Given the description of an element on the screen output the (x, y) to click on. 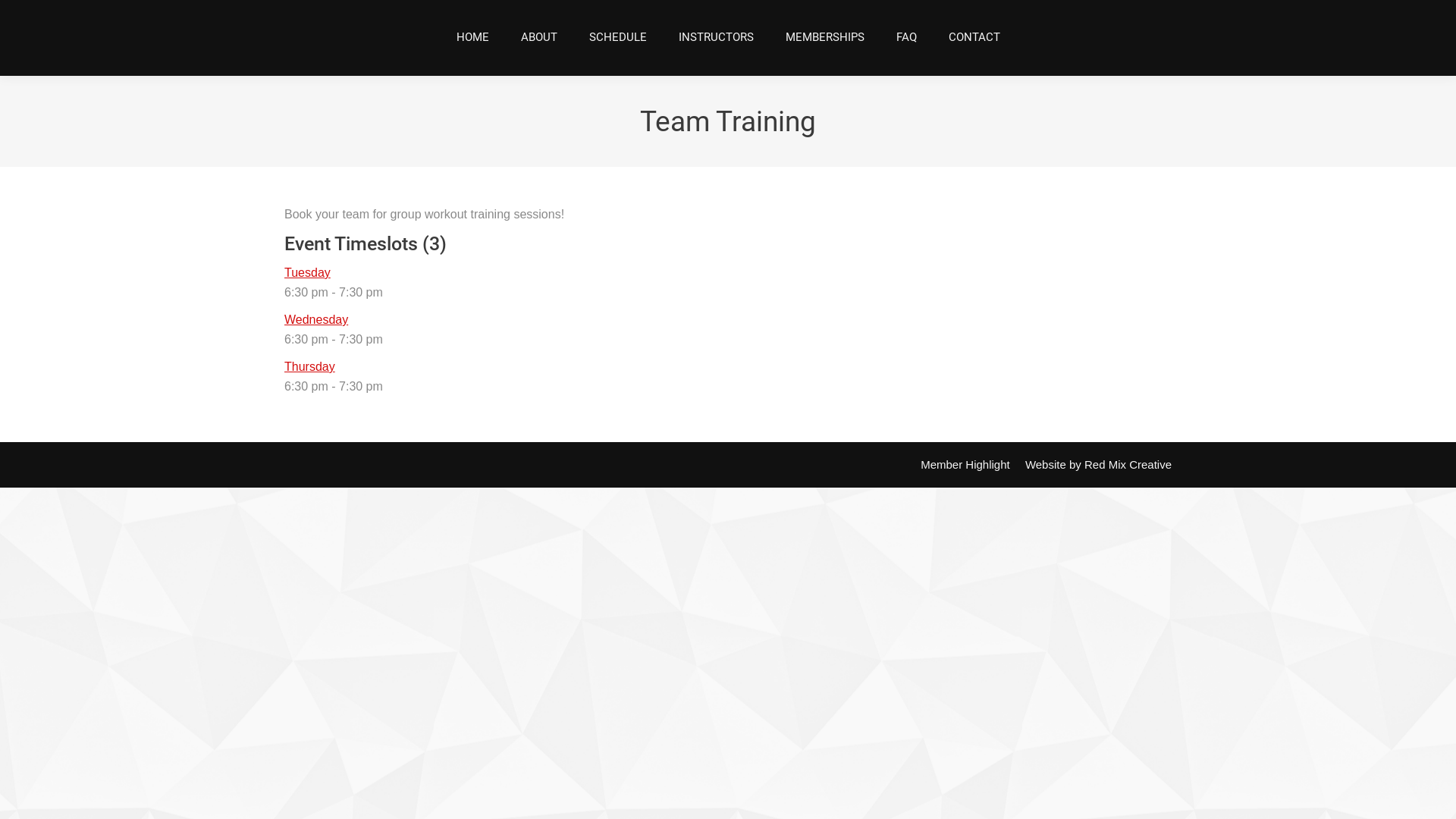
SCHEDULE Element type: text (617, 37)
ABOUT Element type: text (539, 37)
FAQ Element type: text (905, 37)
HOME Element type: text (471, 37)
INSTRUCTORS Element type: text (715, 37)
Member Highlight Element type: text (965, 464)
Wednesday Element type: text (316, 319)
MEMBERSHIPS Element type: text (824, 37)
CONTACT Element type: text (974, 37)
Website by Red Mix Creative Element type: text (1098, 464)
Thursday Element type: text (309, 366)
Tuesday Element type: text (307, 272)
